Given the description of an element on the screen output the (x, y) to click on. 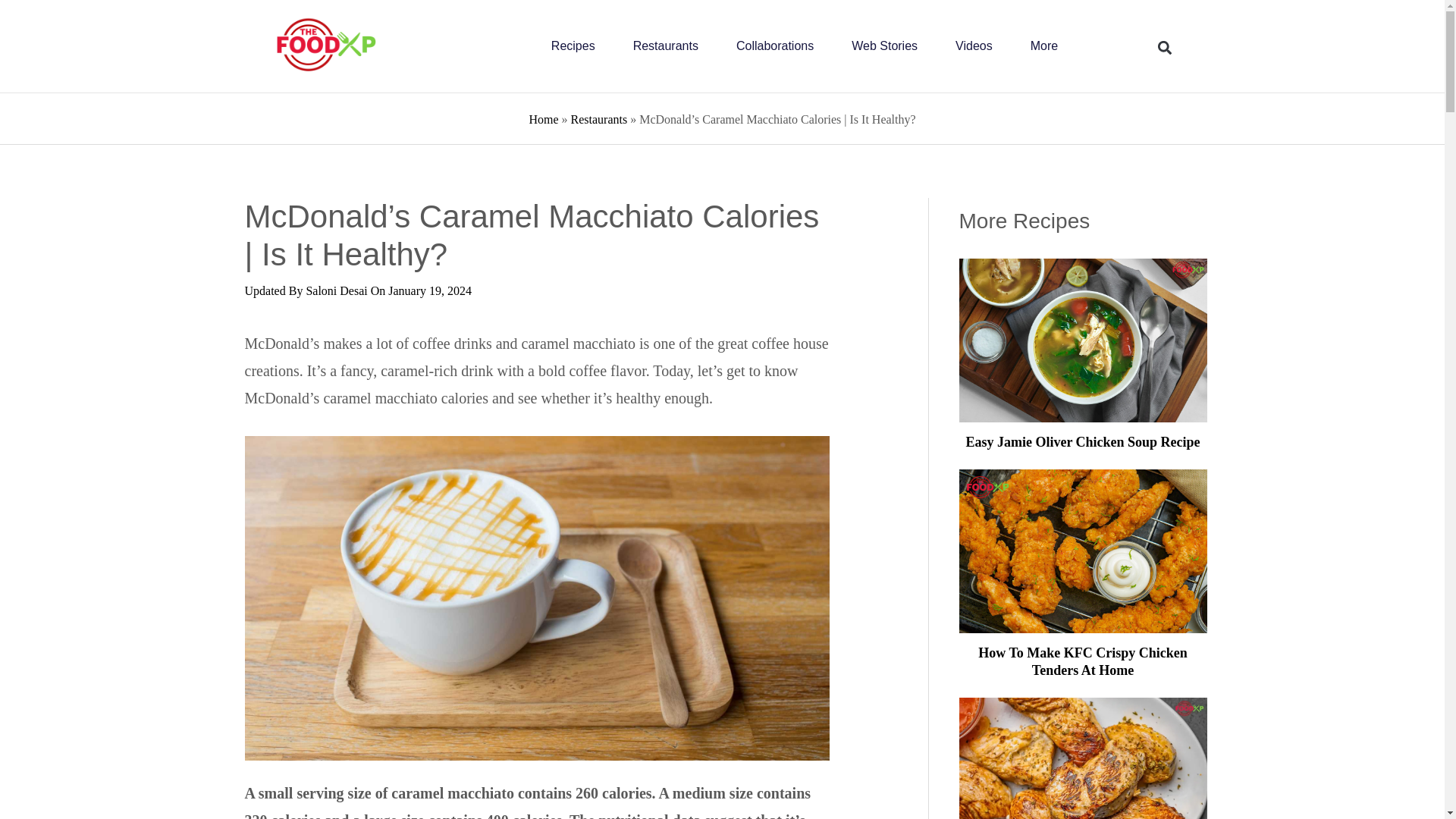
Web Stories (884, 45)
Videos (973, 45)
Restaurants (665, 45)
Collaborations (774, 45)
Recipes (573, 45)
